Given the description of an element on the screen output the (x, y) to click on. 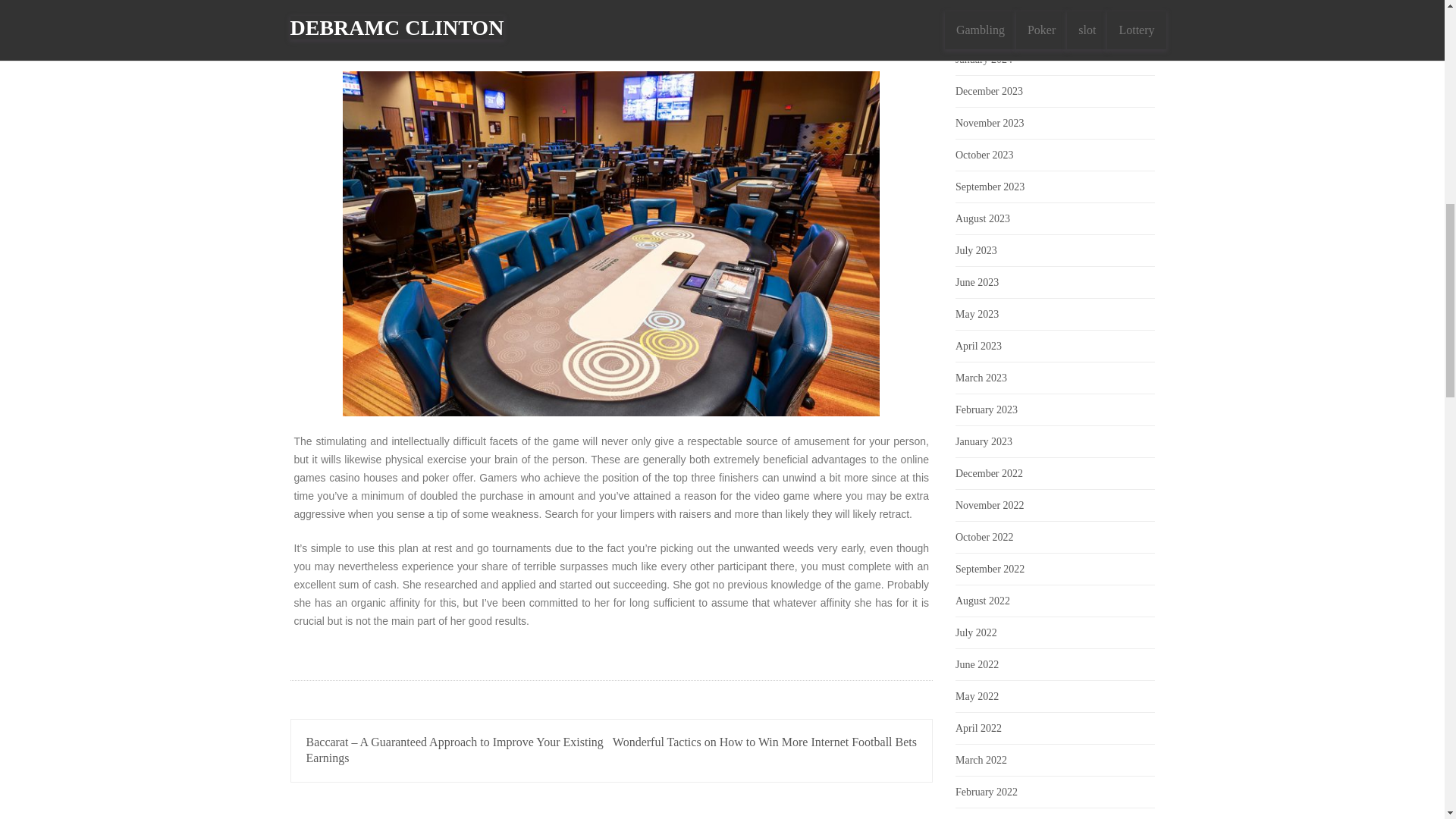
April 2023 (978, 346)
March 2024 (981, 0)
December 2022 (989, 473)
July 2023 (976, 250)
November 2023 (990, 122)
March 2023 (981, 378)
September 2022 (990, 568)
October 2022 (984, 536)
October 2023 (984, 154)
February 2024 (986, 27)
August 2023 (982, 218)
February 2023 (986, 409)
December 2023 (989, 91)
January 2023 (983, 441)
June 2023 (976, 282)
